Given the description of an element on the screen output the (x, y) to click on. 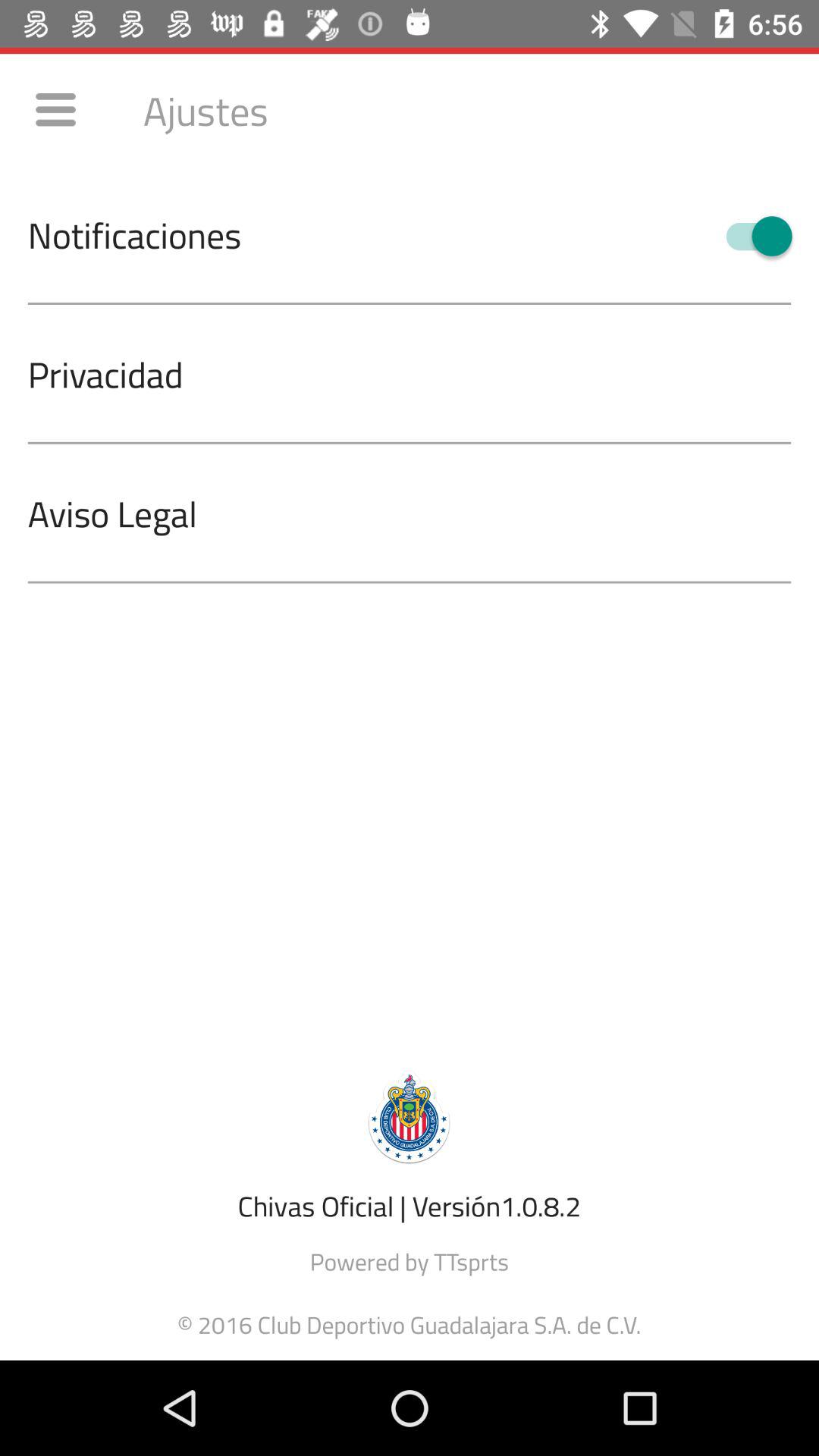
swipe until aviso legal icon (423, 512)
